Given the description of an element on the screen output the (x, y) to click on. 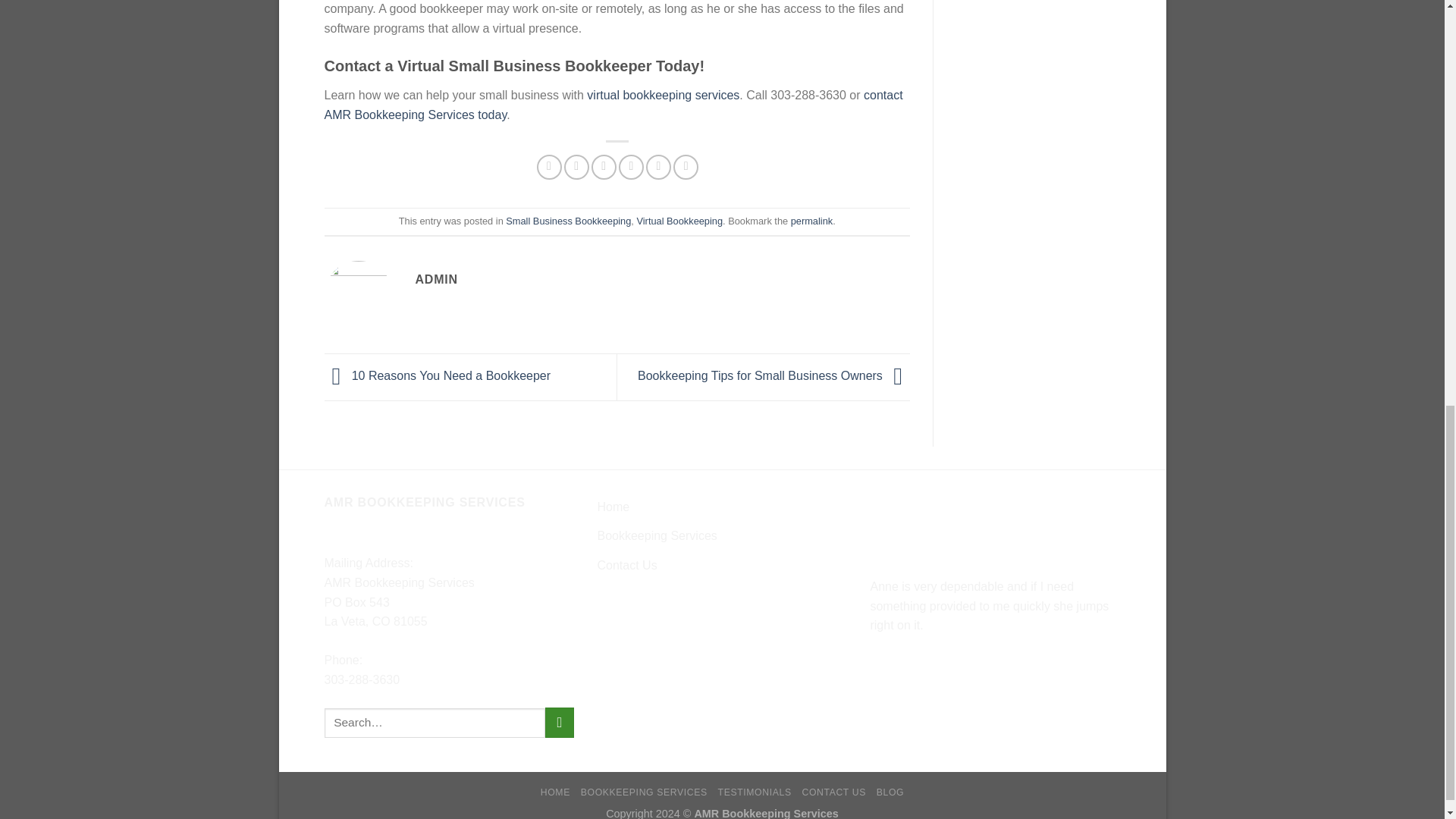
10 Reasons You Need a Bookkeeper (437, 375)
HOME (555, 792)
Permalink to What do Bookkeepers do for Small Businesses? (811, 220)
Bookkeeping Services (656, 535)
BOOKKEEPING SERVICES (643, 792)
CONTACT US (834, 792)
permalink (811, 220)
Virtual Bookkeeping (679, 220)
virtual bookkeeping services (662, 94)
Small Business Bookkeeping (567, 220)
Contact Us (626, 565)
TESTIMONIALS (754, 792)
Home (612, 507)
